Given the description of an element on the screen output the (x, y) to click on. 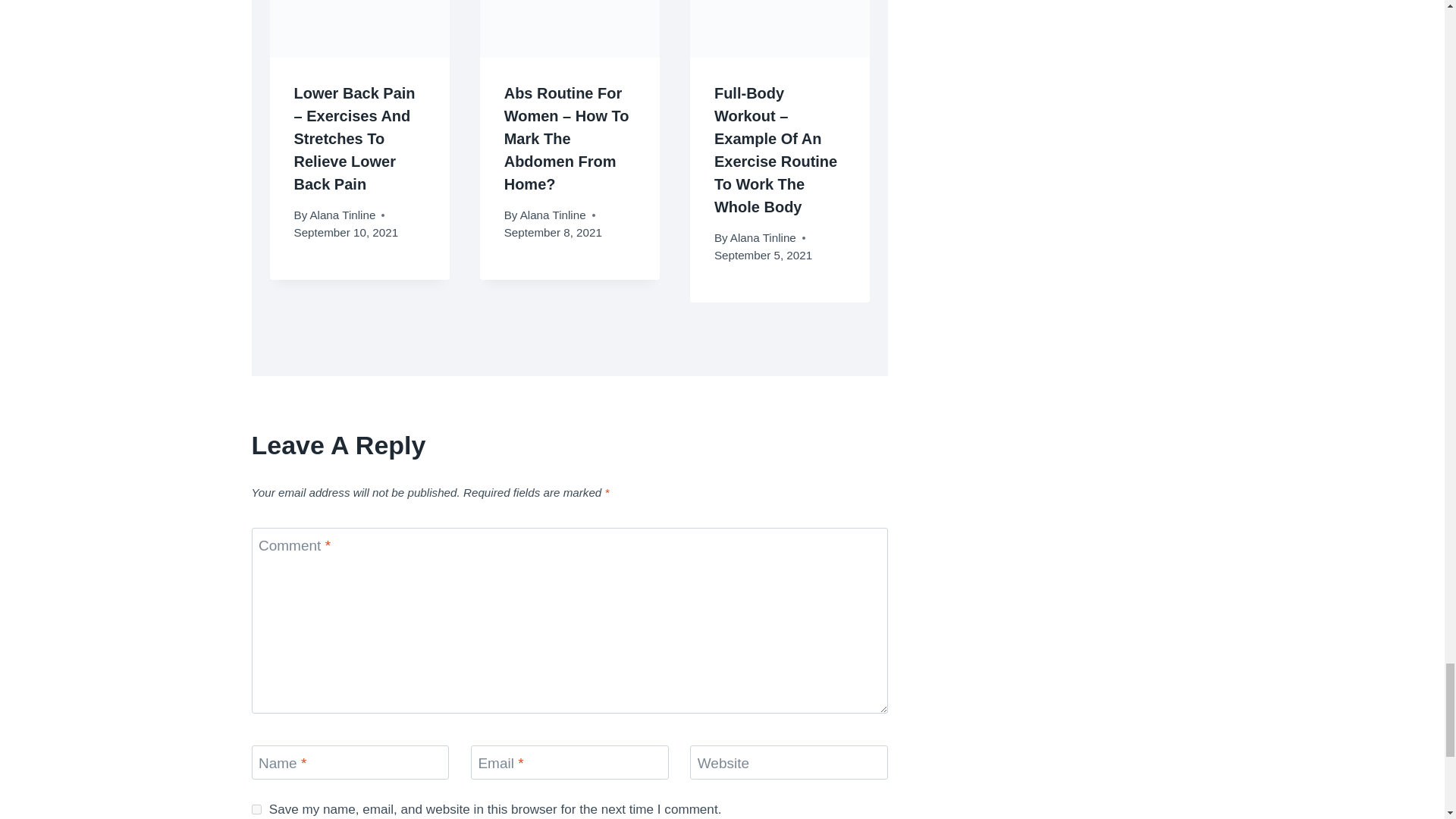
yes (256, 809)
